Given the description of an element on the screen output the (x, y) to click on. 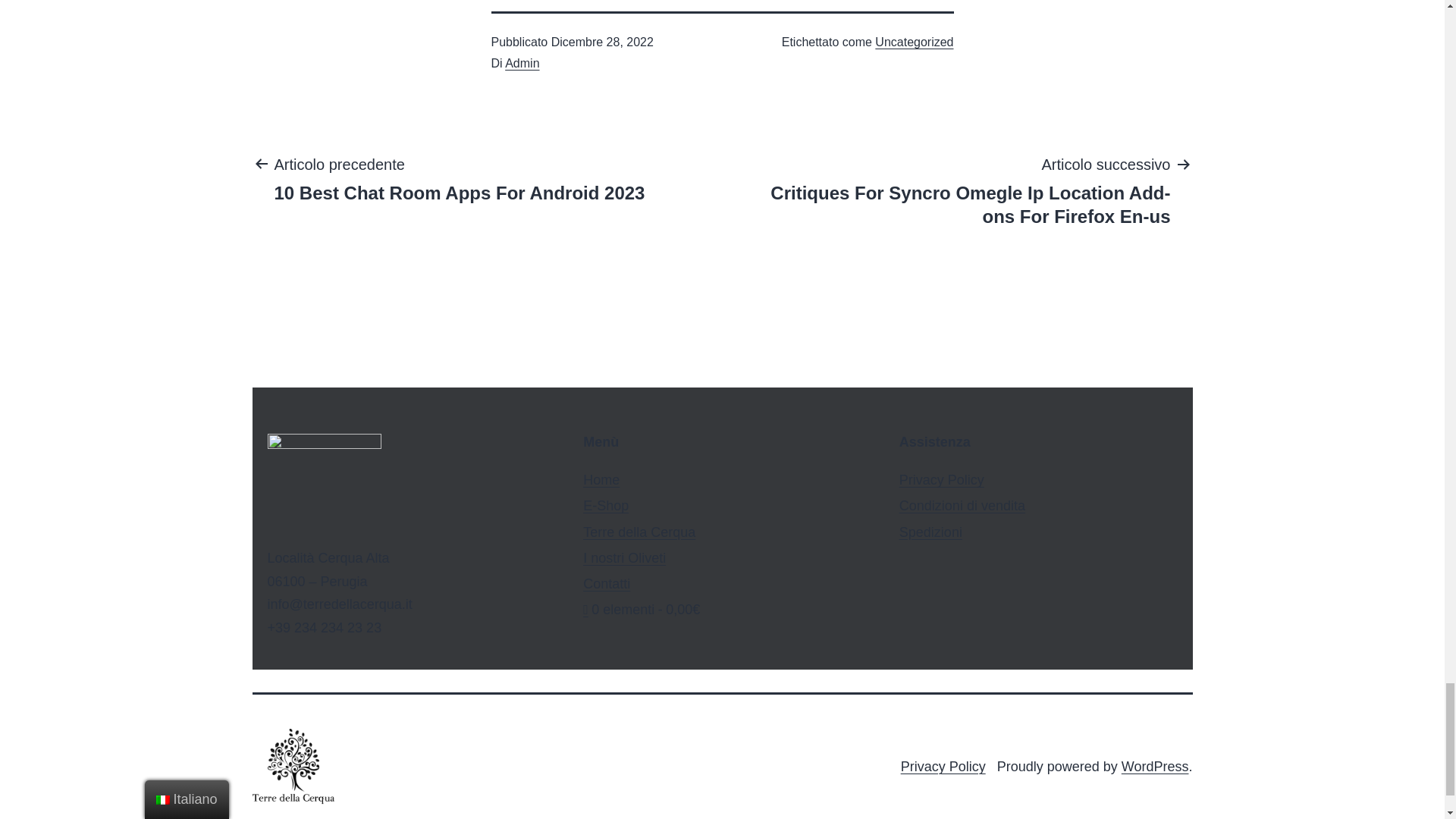
E-Shop (458, 177)
Home (605, 505)
Privacy Policy (601, 479)
Privacy Policy (943, 766)
WordPress (941, 479)
Admin (1155, 766)
Contatti (521, 62)
Uncategorized (606, 583)
